Given the description of an element on the screen output the (x, y) to click on. 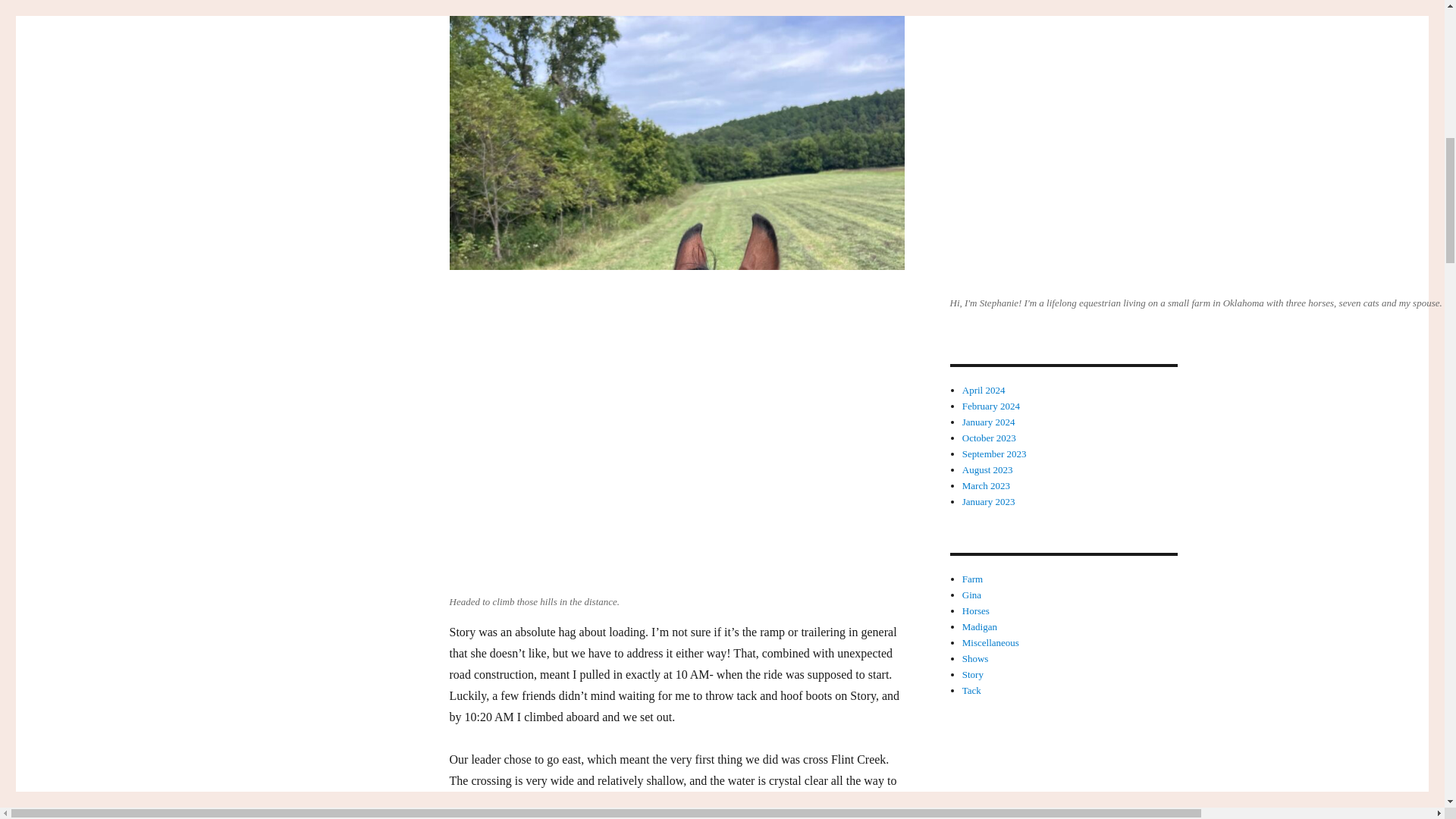
Gina (971, 594)
January 2023 (988, 501)
Farm (972, 578)
August 2023 (987, 469)
Tack (971, 690)
Horses (976, 610)
October 2023 (989, 437)
September 2023 (994, 453)
February 2024 (991, 405)
April 2024 (984, 389)
